Given the description of an element on the screen output the (x, y) to click on. 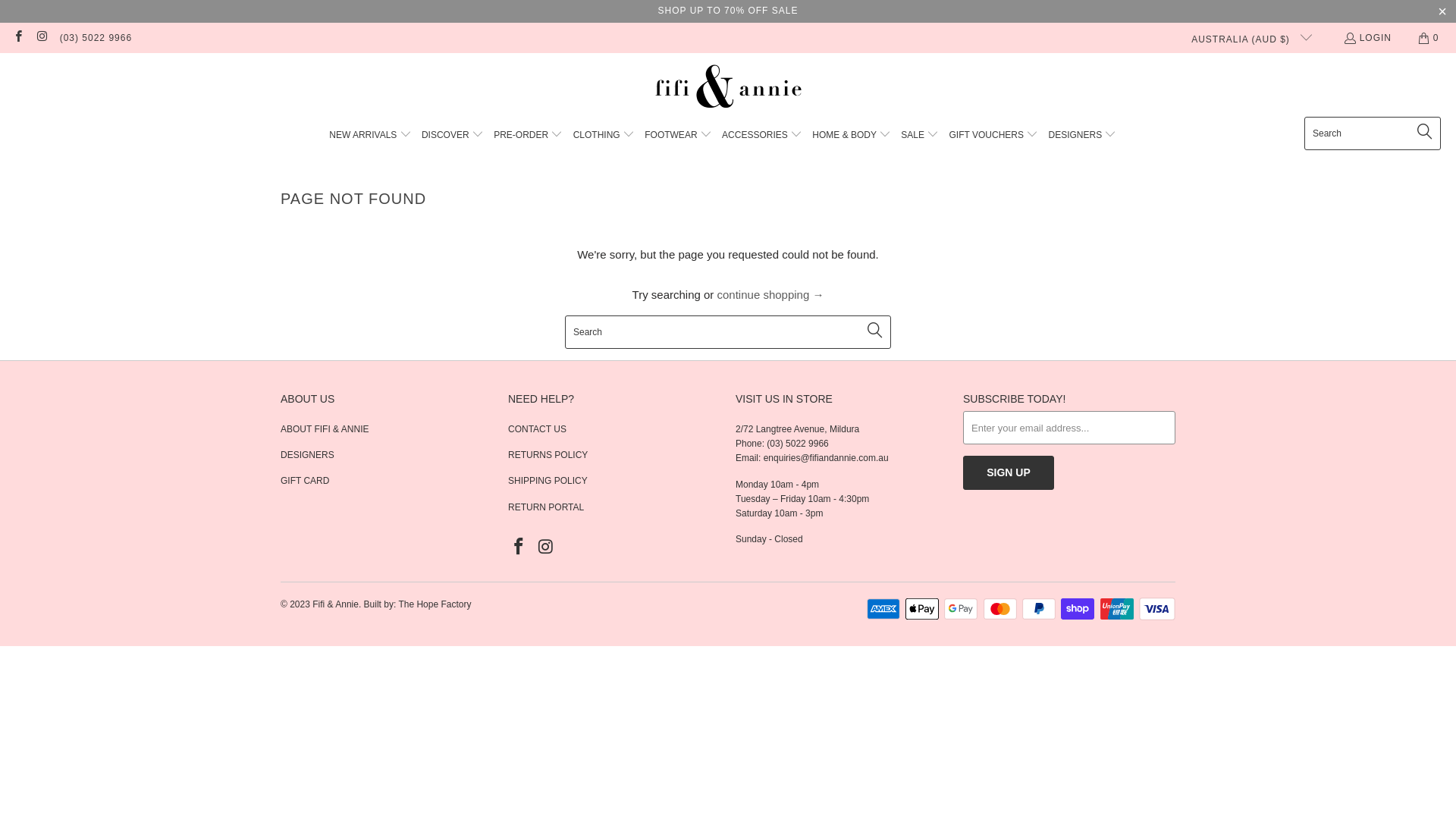
GIFT CARD Element type: text (304, 480)
Fifi & Annie Element type: hover (728, 88)
RETURNS POLICY Element type: text (547, 454)
Fifi & Annie Element type: text (335, 604)
UP TO 70% OFF SALE Element type: text (744, 10)
Fifi & Annie on Instagram Element type: hover (545, 547)
: (03) 5022 9966 Element type: text (795, 443)
DESIGNERS Element type: text (307, 454)
LOGIN Element type: text (1366, 37)
Fifi & Annie on Facebook Element type: hover (17, 37)
enquiries@fifiandannie.com.au Element type: text (825, 457)
AUSTRALIA (AUD $) Element type: text (1245, 37)
ABOUT FIFI & ANNIE Element type: text (324, 428)
Sign Up Element type: text (1008, 472)
SHIPPING POLICY Element type: text (547, 480)
Fifi & Annie on Facebook Element type: hover (519, 547)
Fifi & Annie on Instagram Element type: hover (40, 37)
CONTACT US Element type: text (537, 428)
RETURN PORTAL Element type: text (545, 507)
(03) 5022 9966 Element type: text (95, 37)
